Given the description of an element on the screen output the (x, y) to click on. 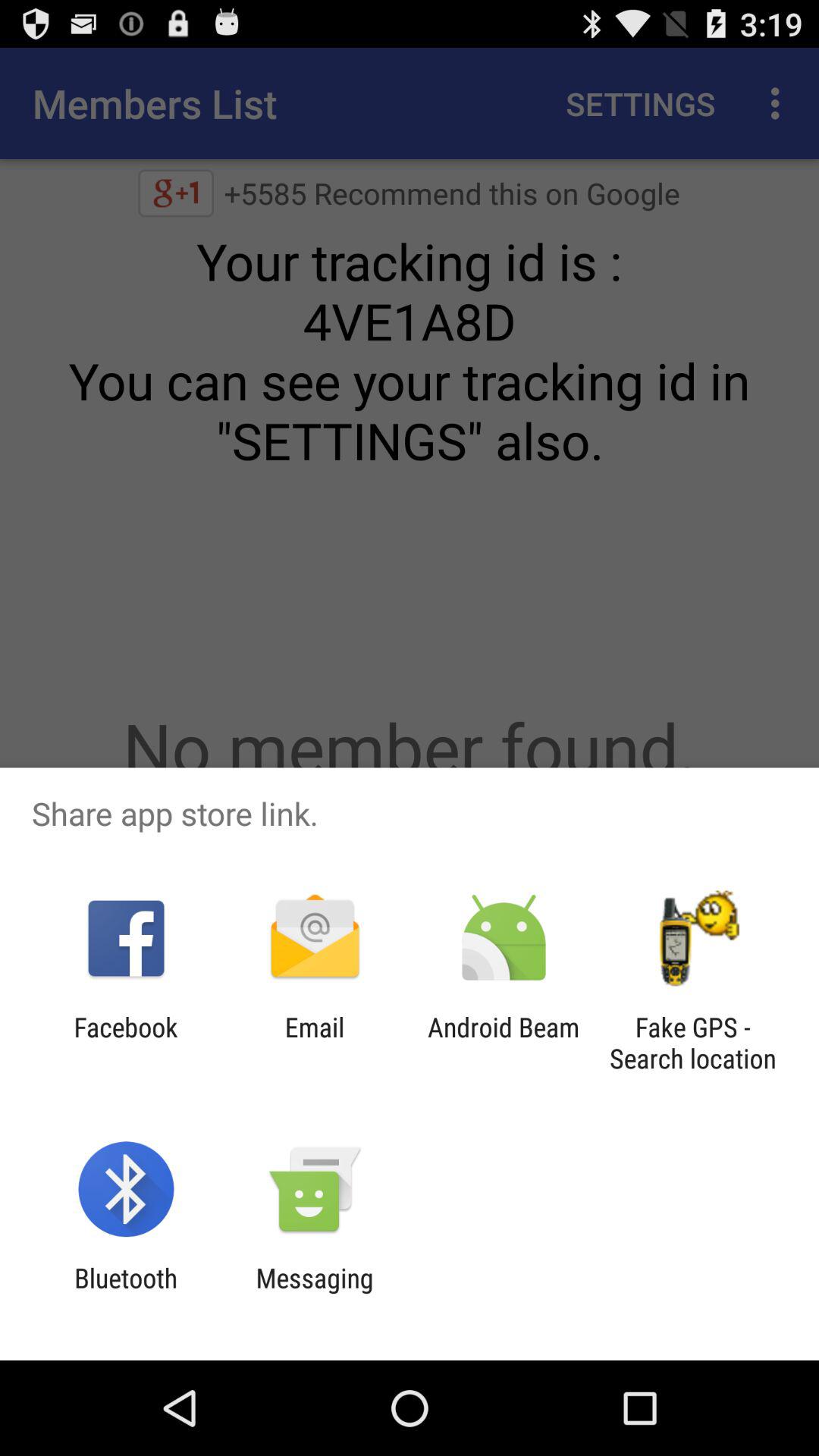
turn on android beam app (503, 1042)
